Given the description of an element on the screen output the (x, y) to click on. 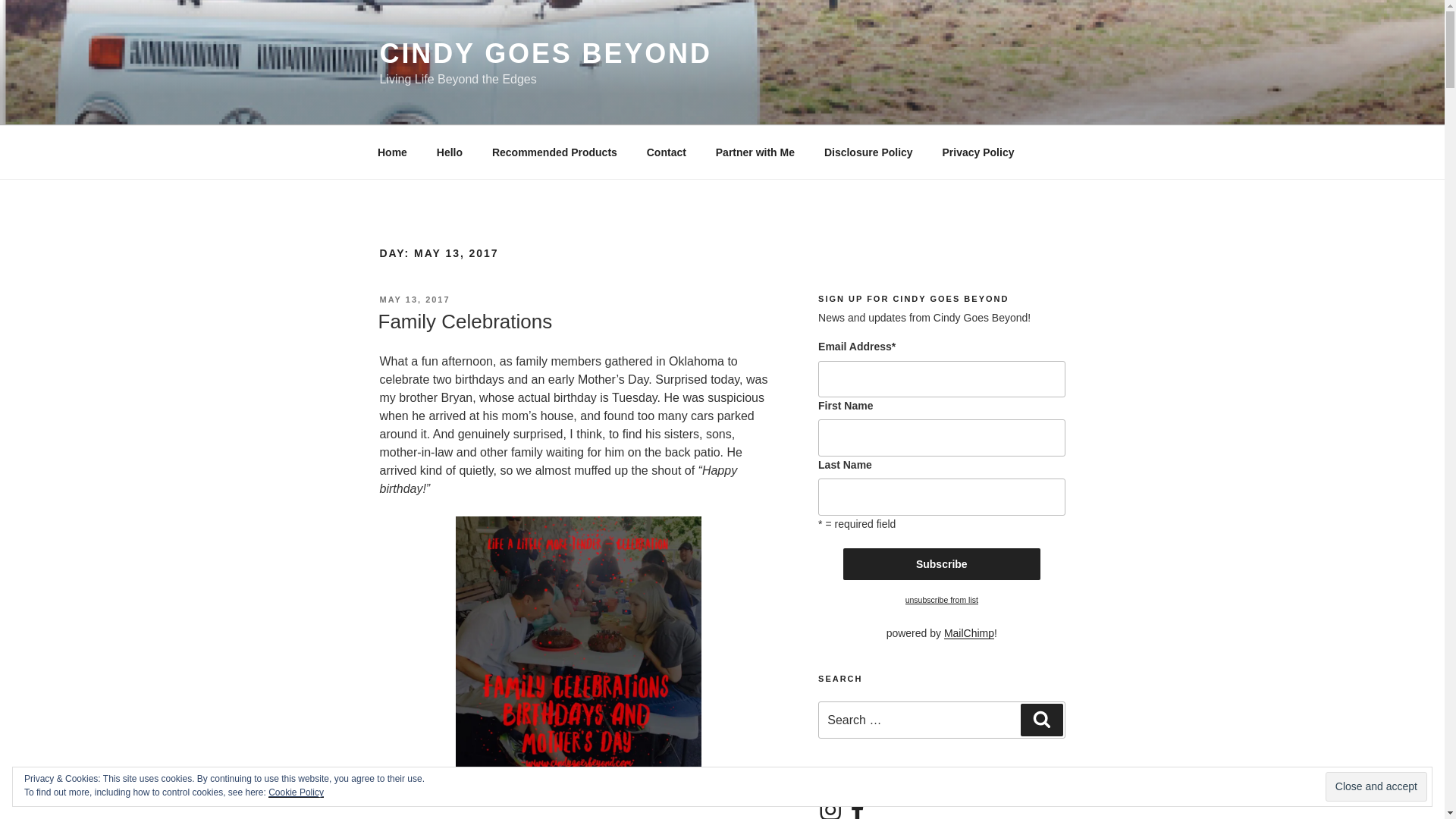
Search (1041, 719)
Home (392, 151)
MAY 13, 2017 (413, 298)
Subscribe (942, 563)
unsubscribe from list (941, 599)
Contact (665, 151)
Disclosure Policy (868, 151)
Recommended Products (554, 151)
Subscribe (942, 563)
Facebook (857, 808)
Happy birthday Bryan and Debbie  (578, 652)
Partner with Me (754, 151)
MailChimp (968, 633)
CINDY GOES BEYOND (544, 52)
Privacy Policy (977, 151)
